Given the description of an element on the screen output the (x, y) to click on. 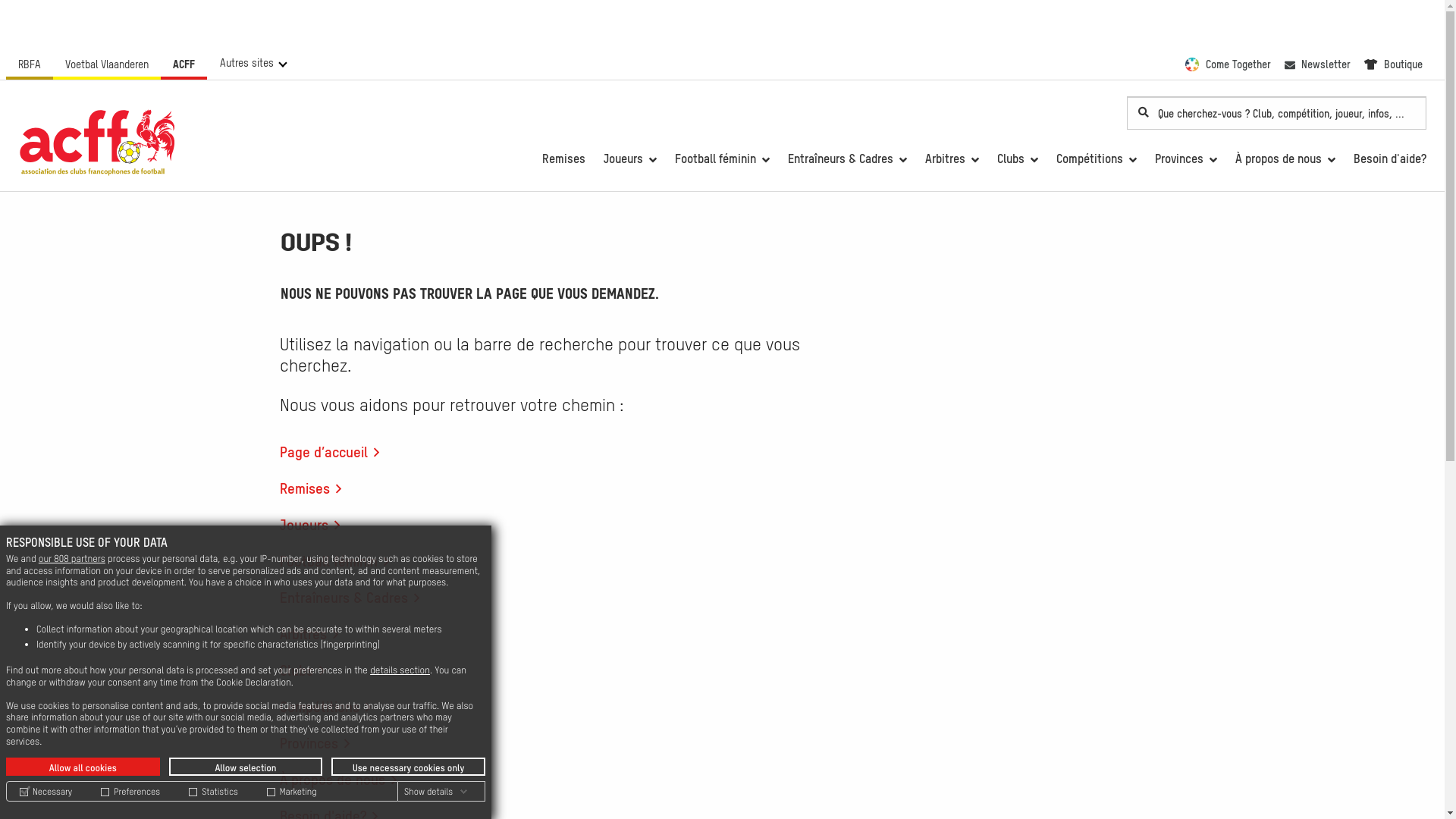
Joueurs Element type: text (320, 524)
Show details Element type: text (435, 791)
Allow all cookies Element type: text (83, 766)
Allow selection Element type: text (246, 766)
Boutique Element type: text (1393, 64)
Clubs Element type: text (312, 670)
RBFA Element type: text (29, 64)
ACFF Element type: text (183, 64)
Joueurs Element type: text (629, 158)
Come Together Element type: text (1227, 64)
Provinces Element type: text (1185, 158)
Provinces Element type: text (325, 742)
Clubs Element type: text (1017, 158)
Newsletter Element type: text (1317, 64)
our 808 partners Element type: text (71, 558)
details section Element type: text (399, 669)
Remises Element type: text (563, 158)
Use necessary cookies only Element type: text (408, 766)
Autres sites Element type: text (246, 62)
Arbitres Element type: text (952, 158)
Remises Element type: text (321, 488)
Voetbal Vlaanderen Element type: text (106, 64)
Besoin d'aide? Element type: text (1389, 158)
Arbitres Element type: text (319, 633)
